Given the description of an element on the screen output the (x, y) to click on. 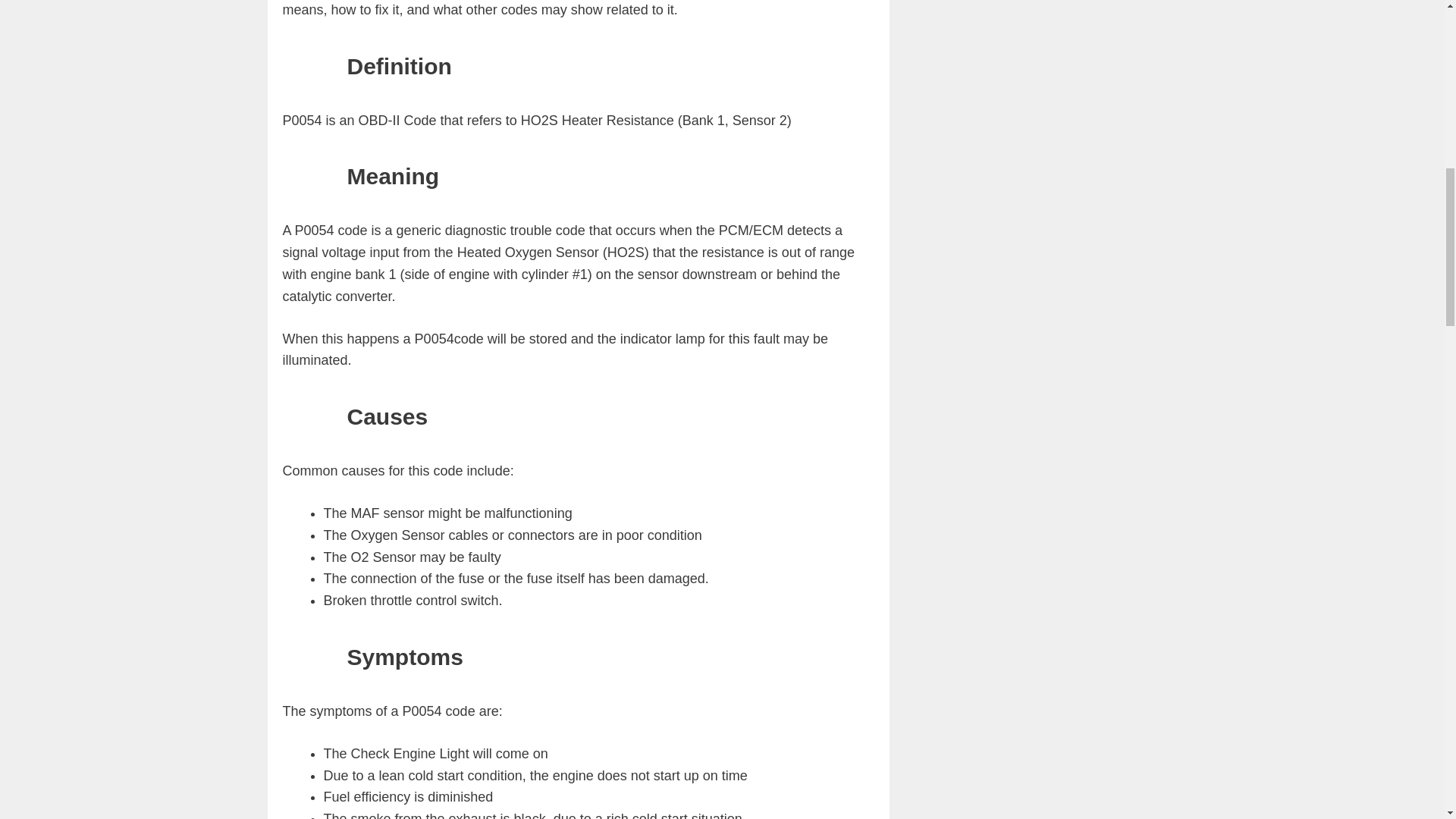
Scroll back to top (1406, 720)
